Given the description of an element on the screen output the (x, y) to click on. 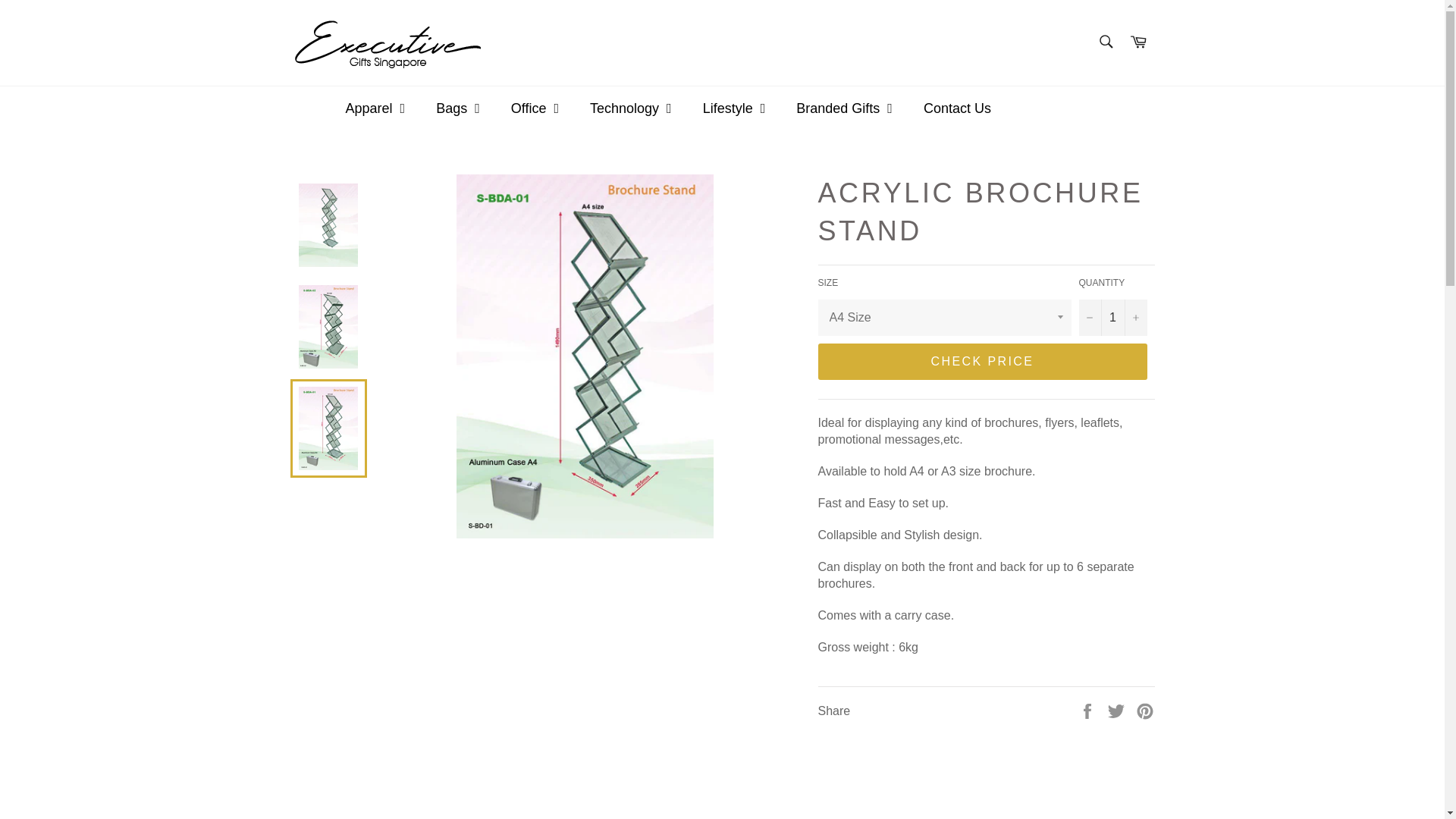
1 (1112, 316)
Pin on Pinterest (1144, 709)
Tweet on Twitter (1117, 709)
Share on Facebook (1088, 709)
